Given the description of an element on the screen output the (x, y) to click on. 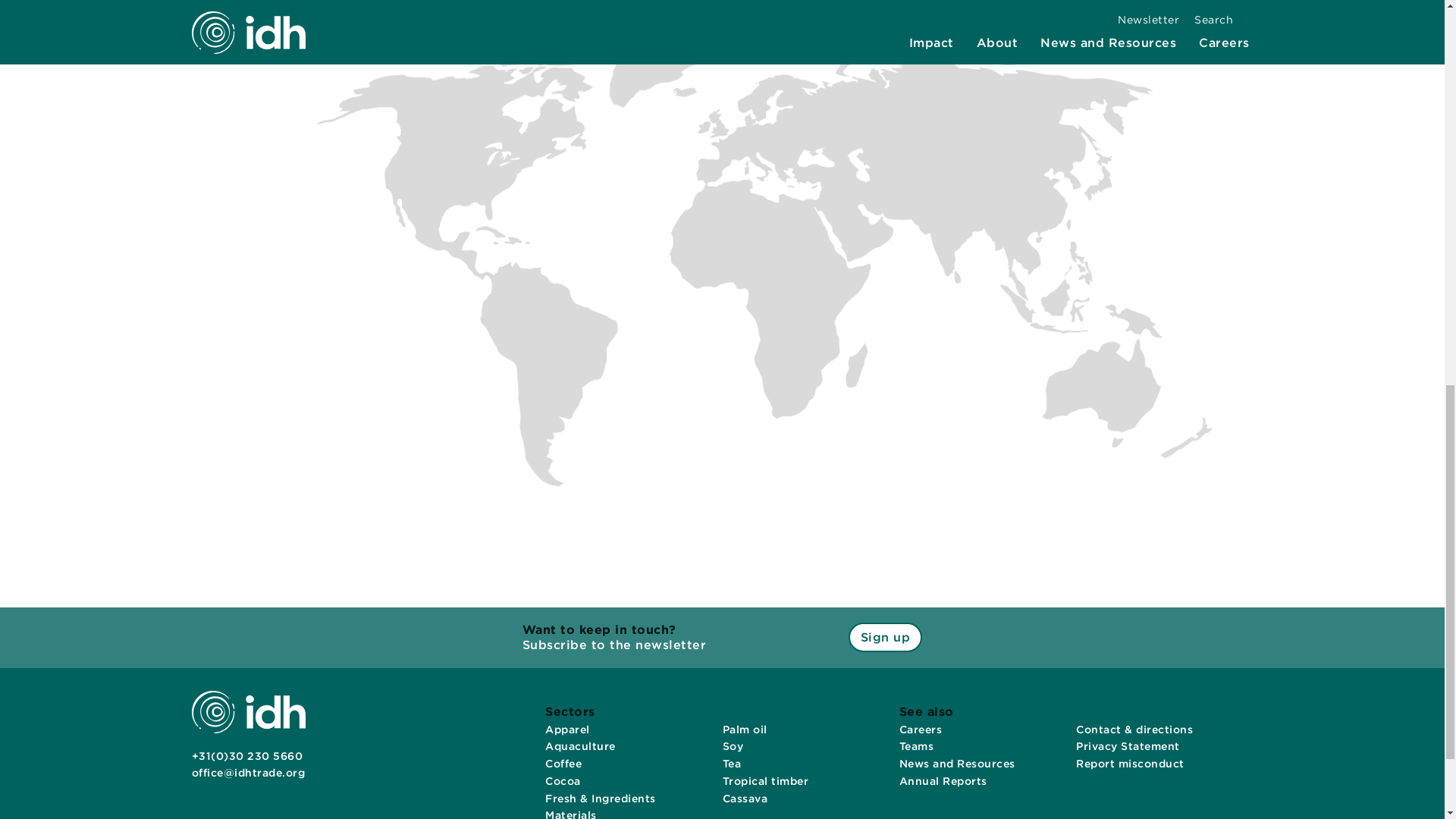
Map pin (721, 275)
Map pin (710, 276)
Map pin (721, 126)
Map pin (694, 273)
Map pin (831, 298)
Map pin (836, 268)
Map pin (558, 345)
